Given the description of an element on the screen output the (x, y) to click on. 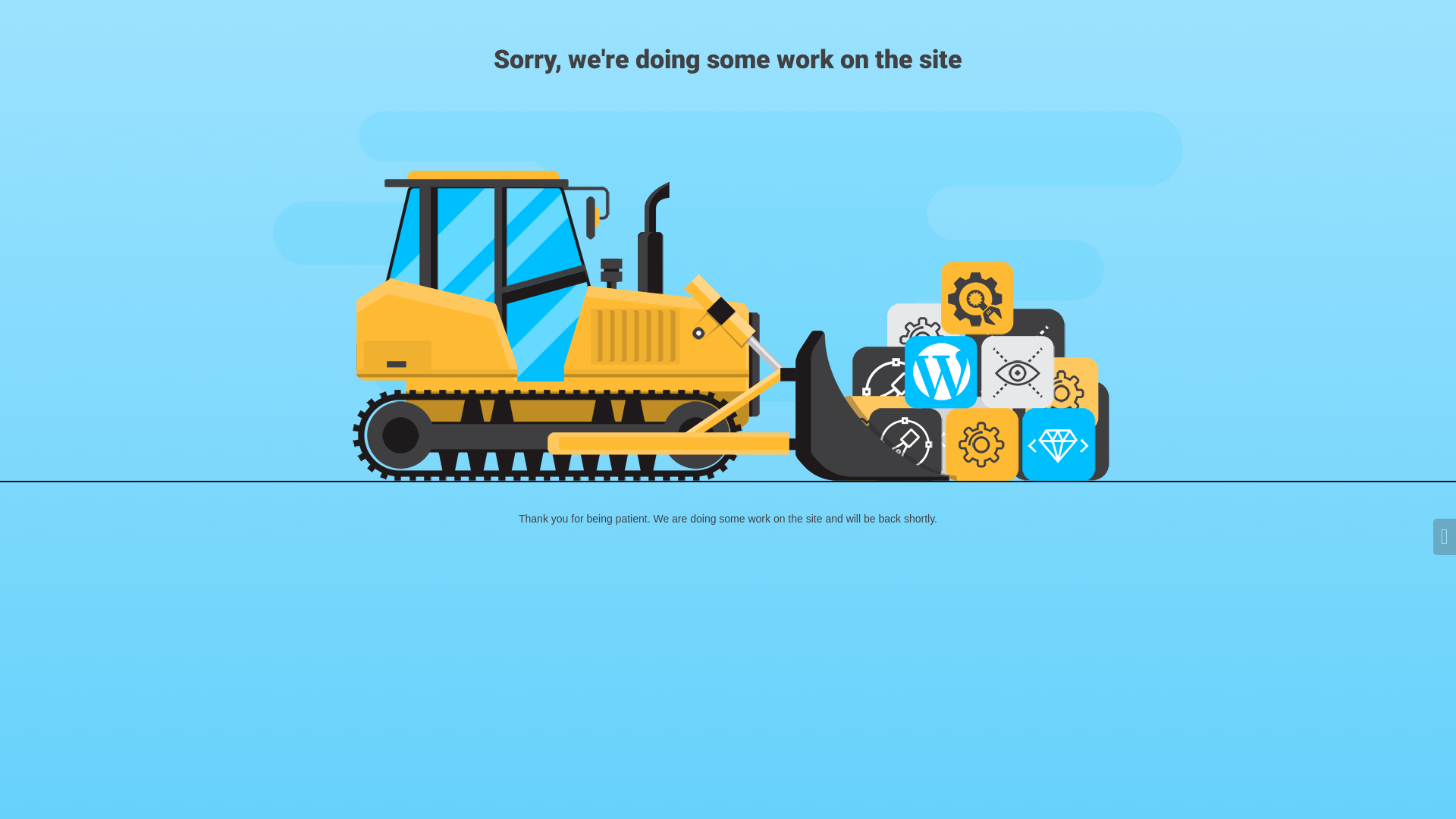
Bulldozer at Work Element type: hover (728, 295)
